Given the description of an element on the screen output the (x, y) to click on. 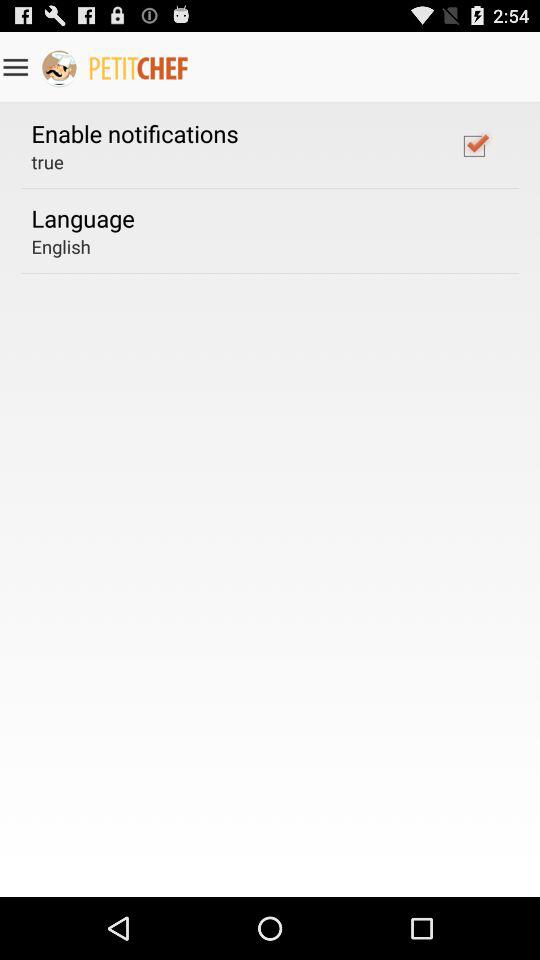
click the item below the true item (82, 218)
